Given the description of an element on the screen output the (x, y) to click on. 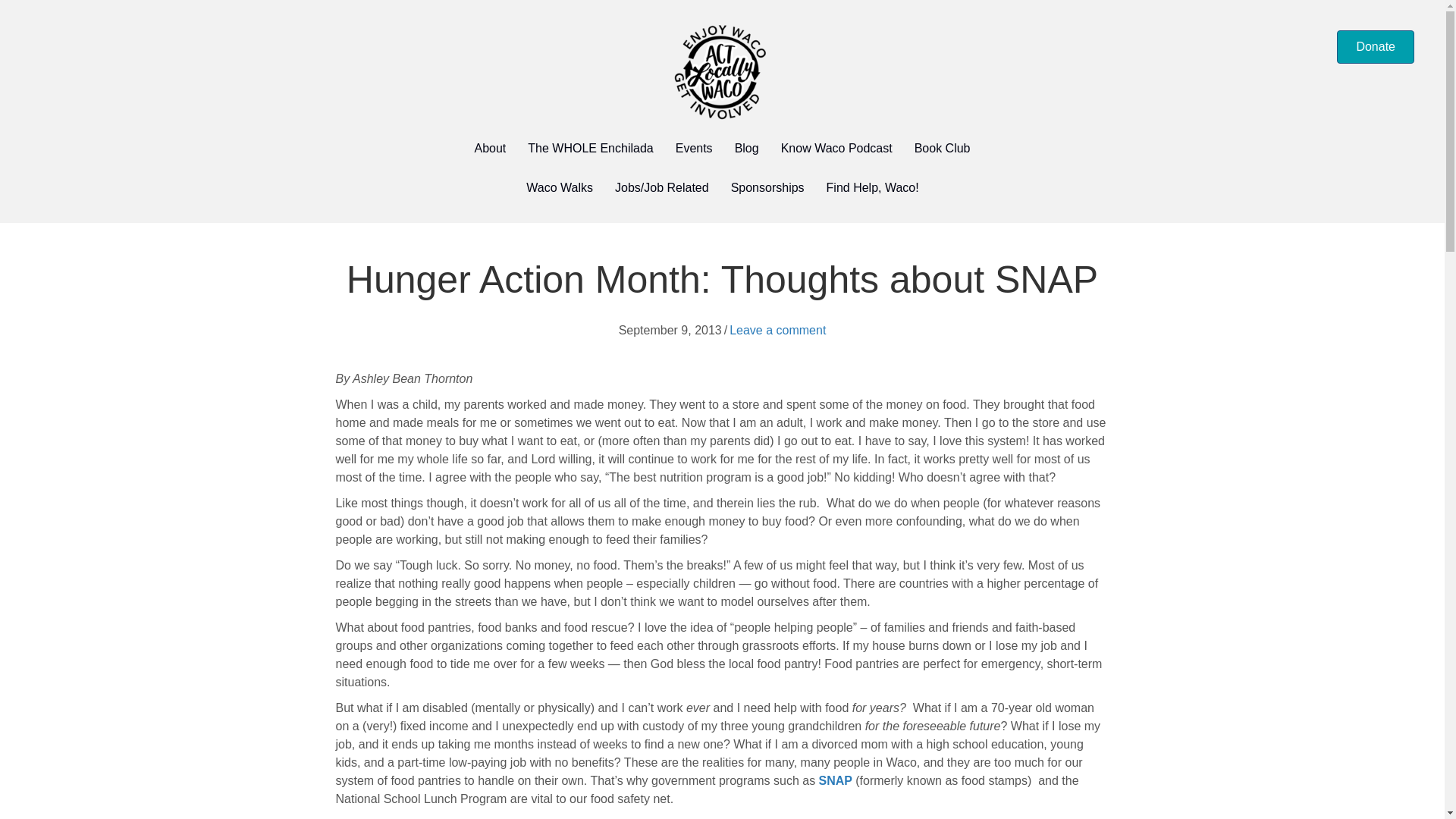
Leave a comment (777, 329)
Book Club (942, 148)
Events (694, 148)
Find Help, Waco! (872, 188)
Sponsorships (767, 188)
SNAP (834, 780)
Donate (1374, 46)
About (489, 148)
Know Waco Podcast (836, 148)
